Given the description of an element on the screen output the (x, y) to click on. 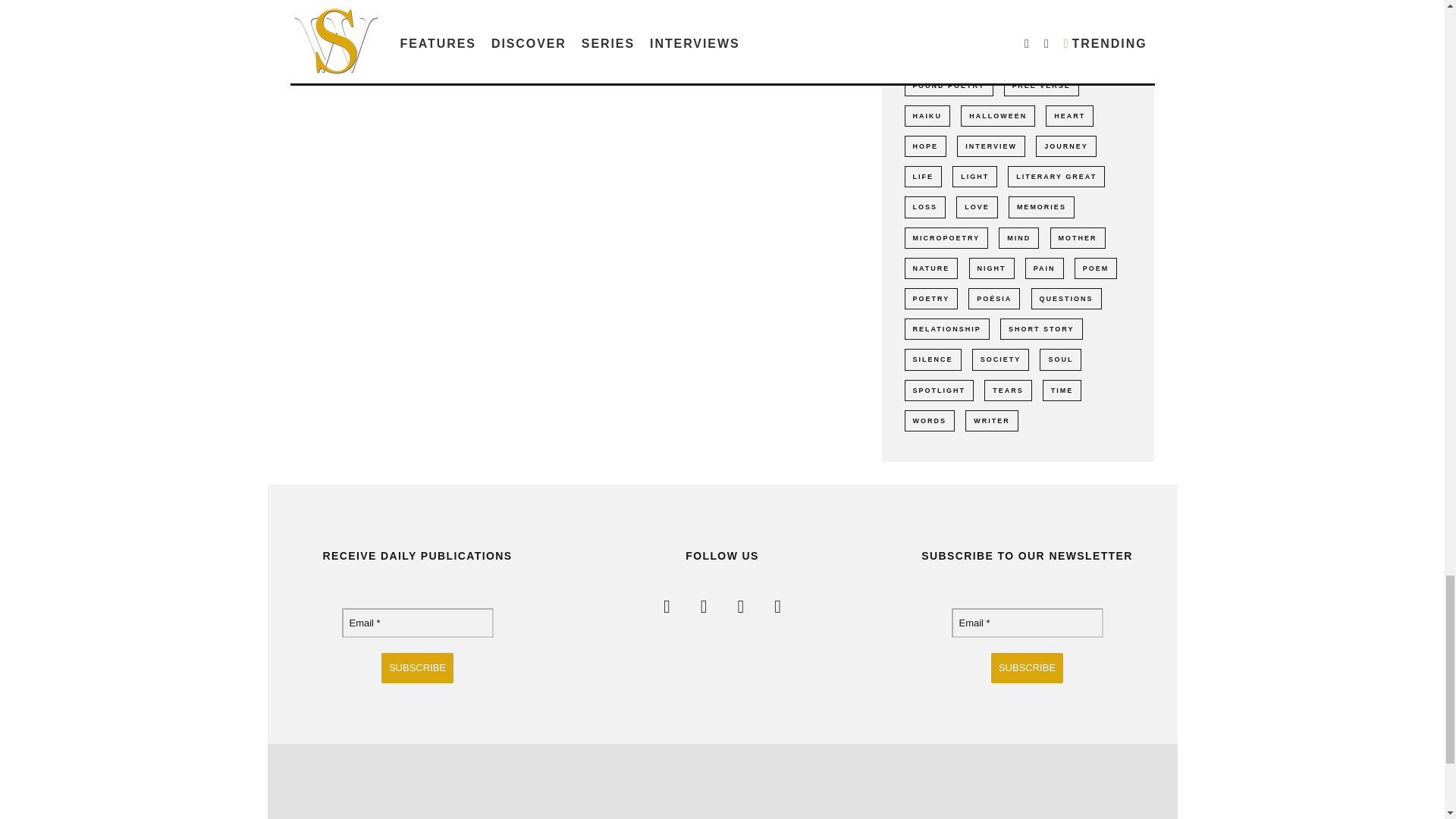
Subscribe (416, 667)
Subscribe (1026, 667)
Email (416, 623)
Email (1026, 623)
Connect with WordPress (425, 73)
